Given the description of an element on the screen output the (x, y) to click on. 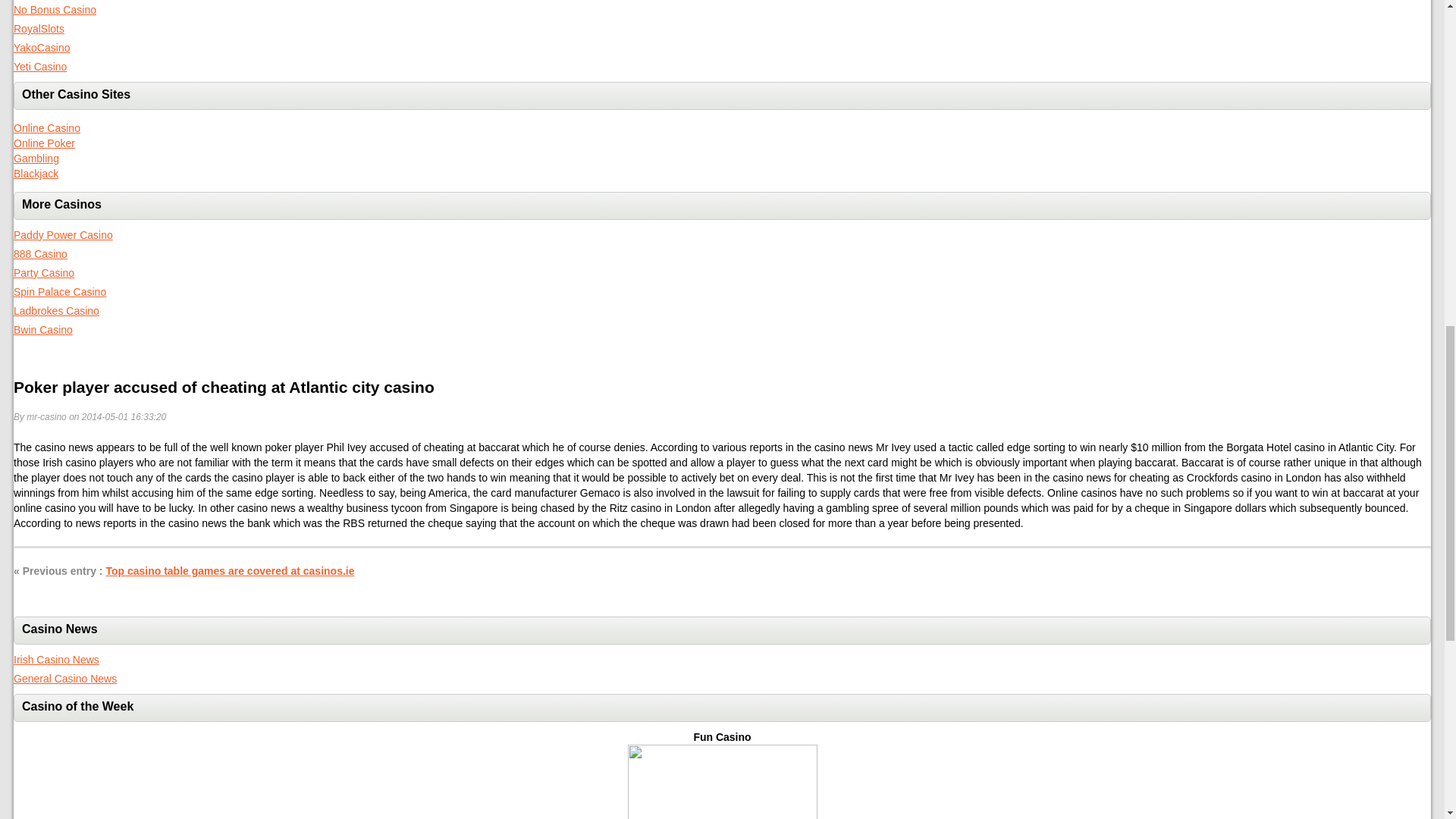
888 Casino (39, 254)
RoyalSlots (38, 28)
Gambling (36, 158)
No Bonus Casino (54, 9)
Online Casino (46, 128)
Party Casino (43, 272)
Blackjack (35, 173)
Yeti Casino (39, 66)
Paddy Power Casino (63, 234)
YakoCasino (41, 47)
